Given the description of an element on the screen output the (x, y) to click on. 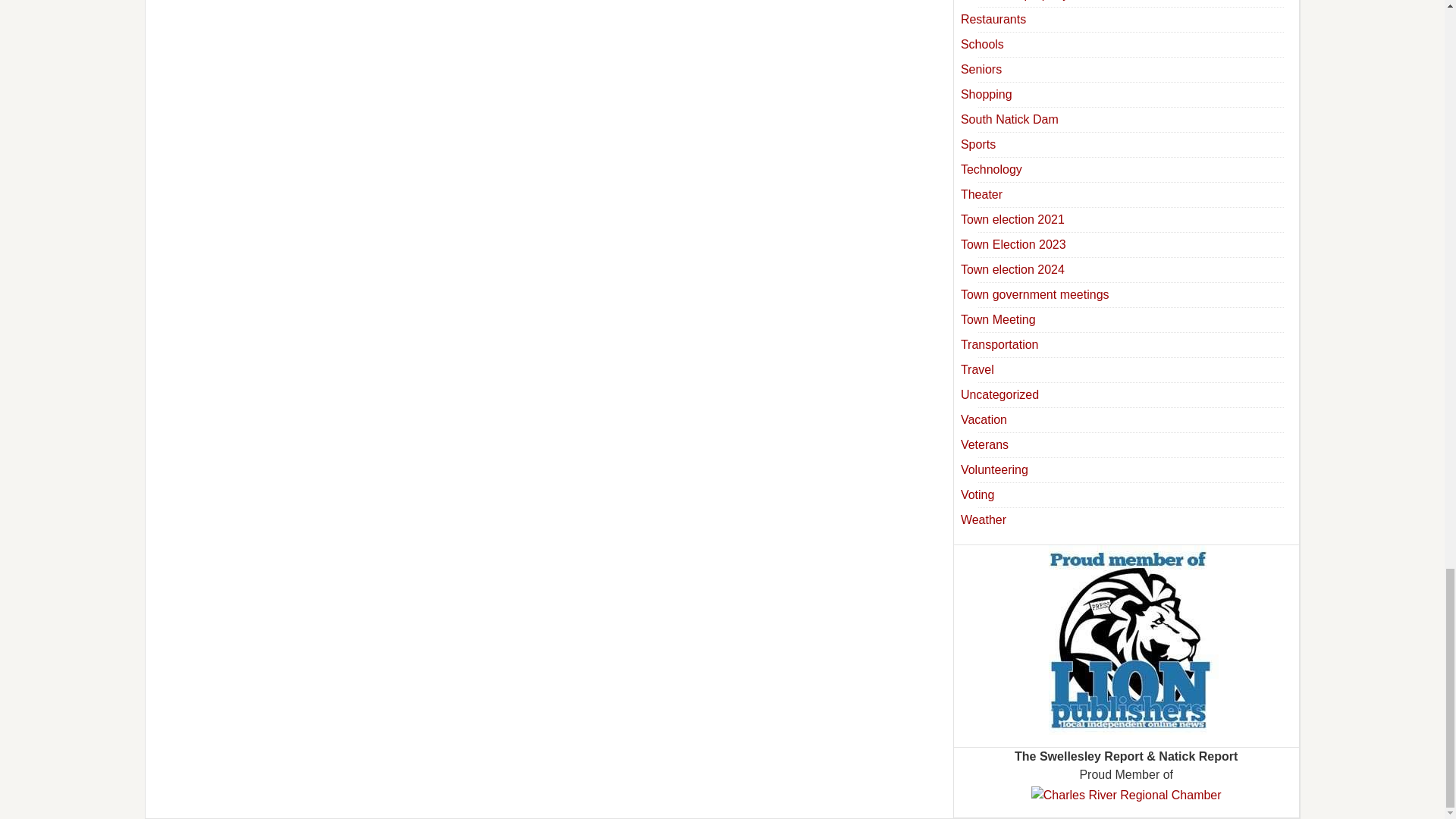
Charles River Regional Chamber (1125, 795)
